Given the description of an element on the screen output the (x, y) to click on. 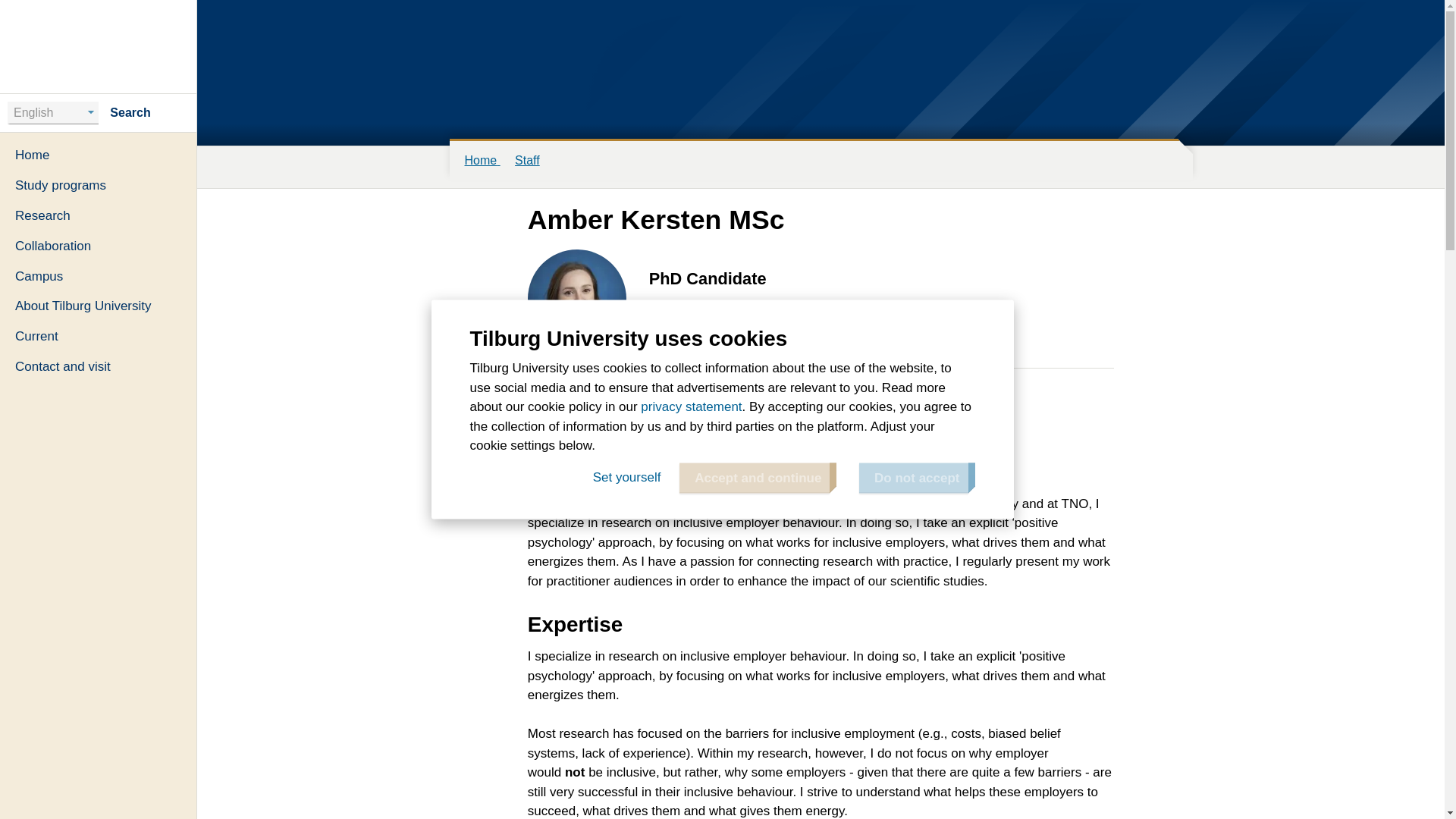
Contact and visit (98, 367)
Study programs (98, 185)
Collaboration (98, 245)
Home (487, 160)
Current (98, 336)
Home (98, 155)
Go to the homepage of (98, 46)
Campus (98, 276)
Staff (527, 160)
Home (98, 46)
Search (143, 112)
Research (98, 215)
About Tilburg University (98, 306)
